Given the description of an element on the screen output the (x, y) to click on. 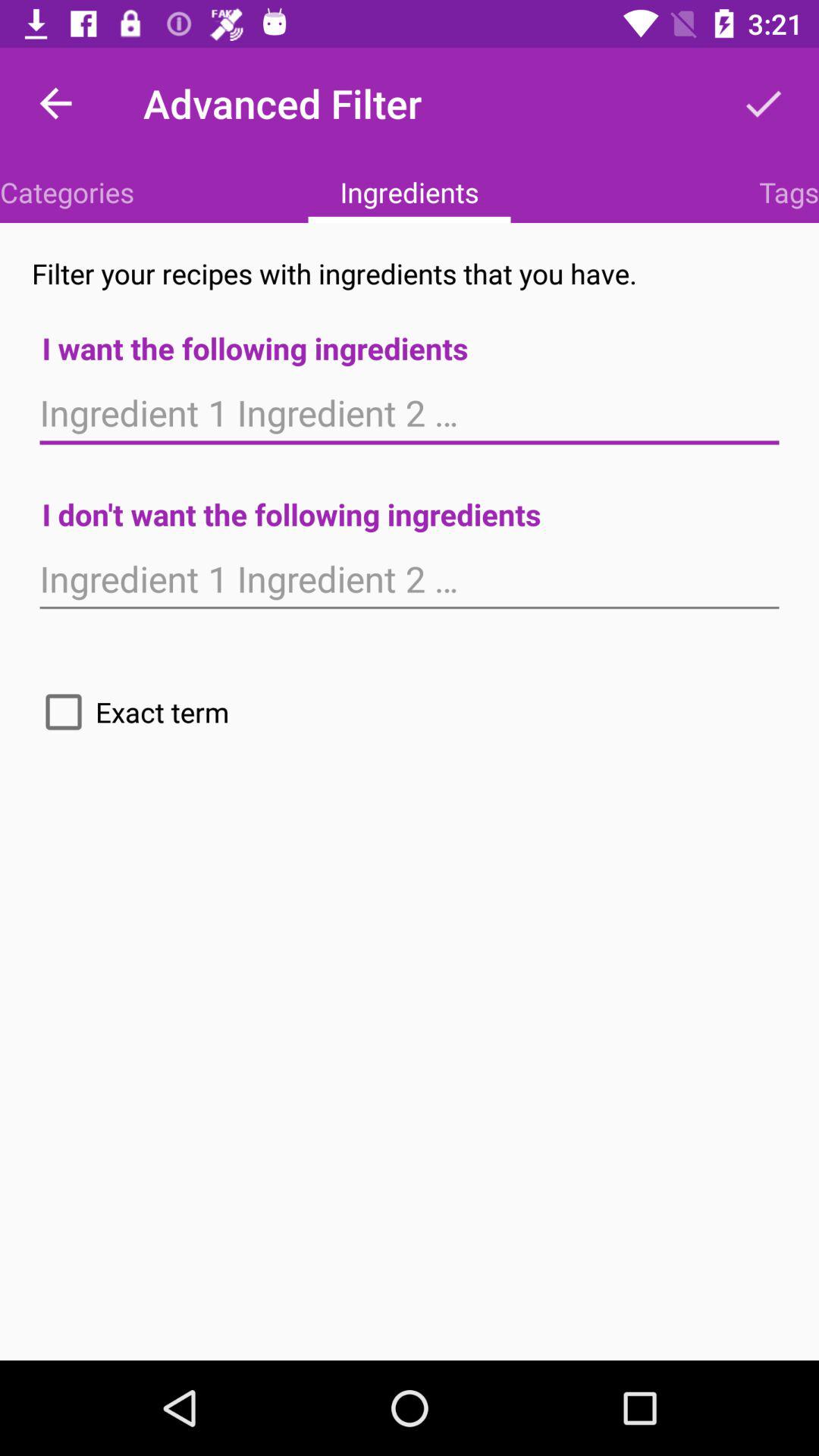
select the categories icon (67, 192)
